Given the description of an element on the screen output the (x, y) to click on. 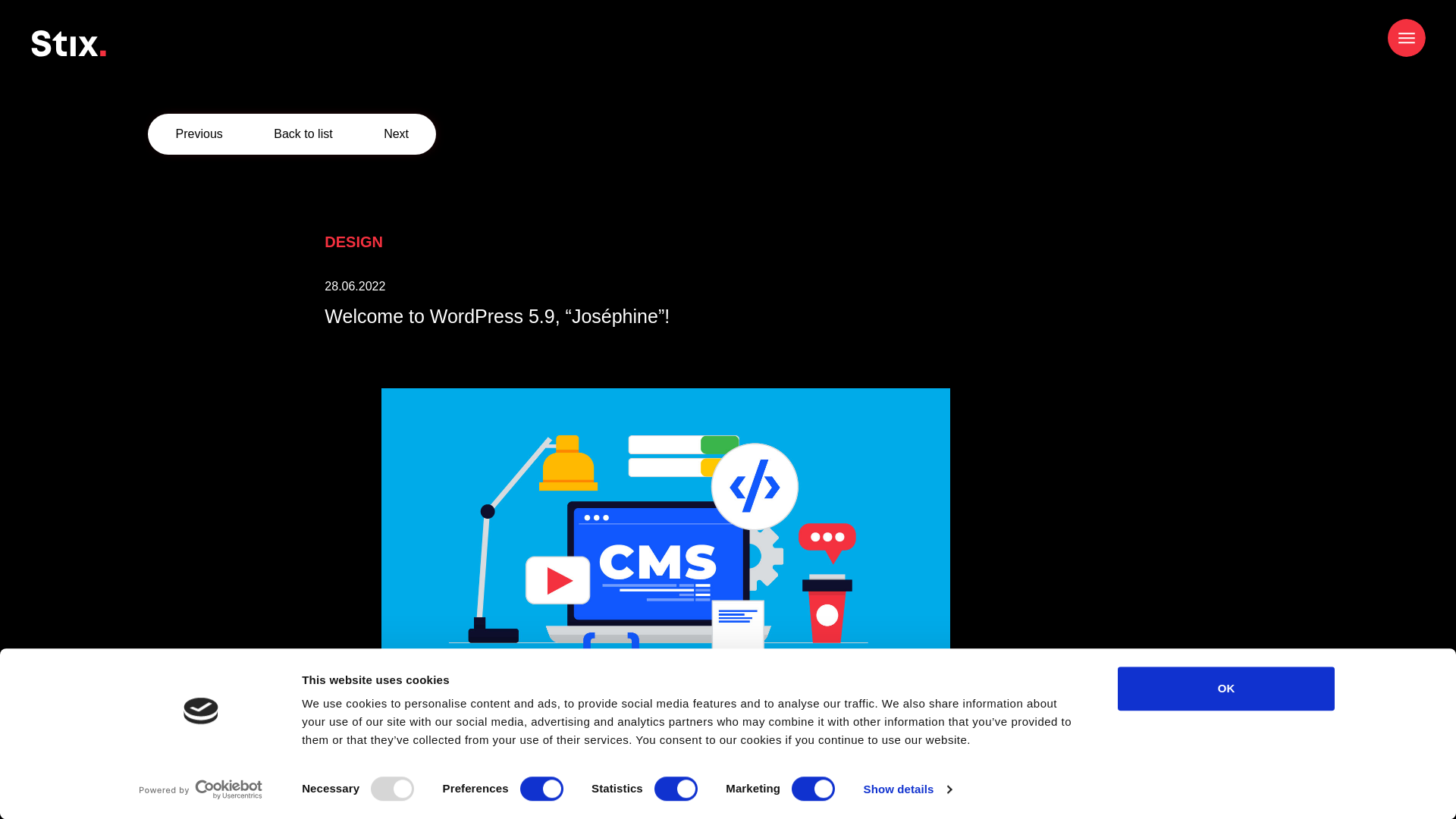
Show details (907, 789)
Previous (199, 133)
Back to list (302, 133)
Next (396, 133)
OK (1226, 688)
